Given the description of an element on the screen output the (x, y) to click on. 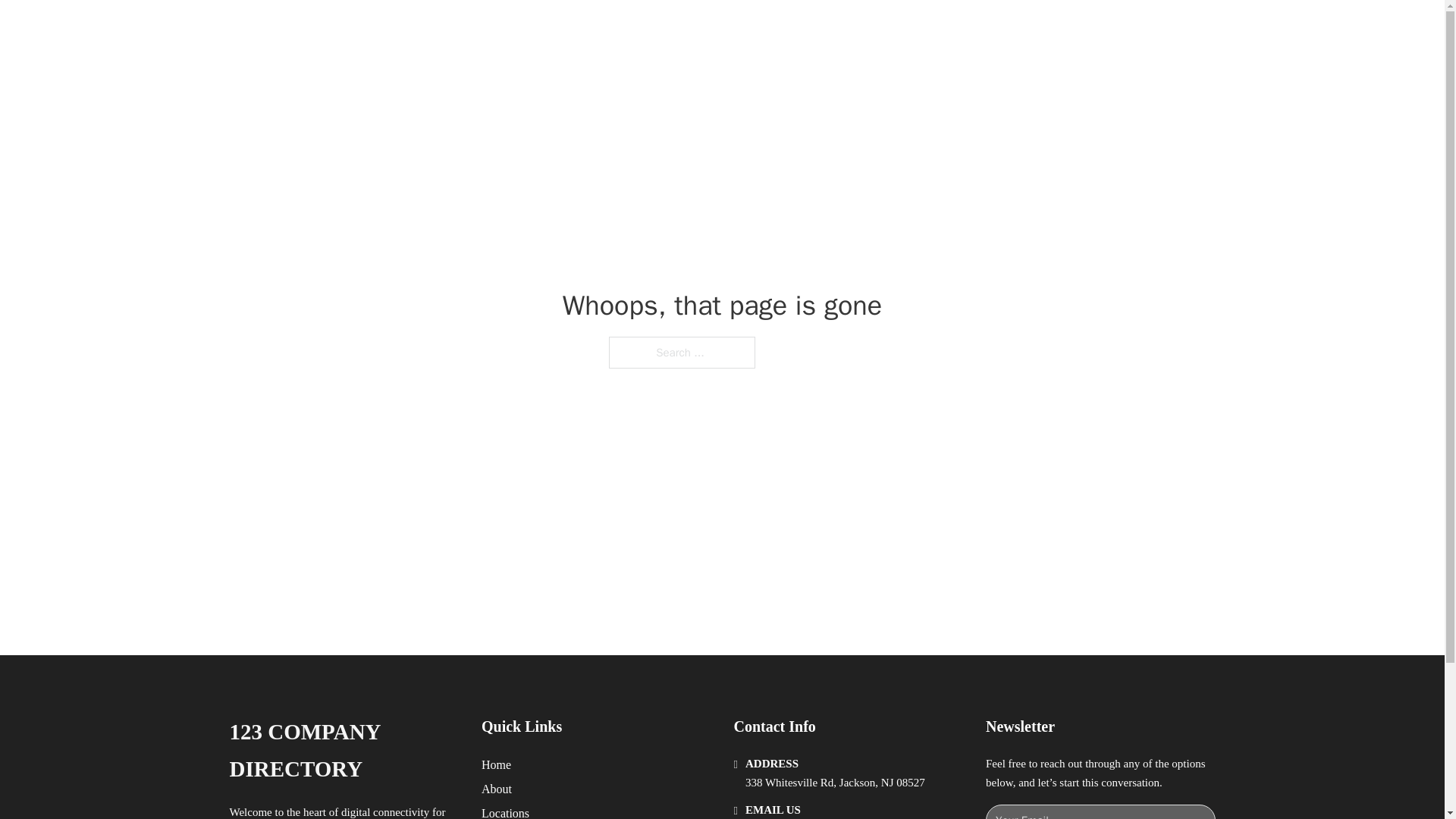
LOCATIONS (990, 29)
Home (496, 764)
HOME (919, 29)
About (496, 788)
Locations (505, 811)
123 COMPANY DIRECTORY (441, 28)
123 COMPANY DIRECTORY (343, 750)
